Given the description of an element on the screen output the (x, y) to click on. 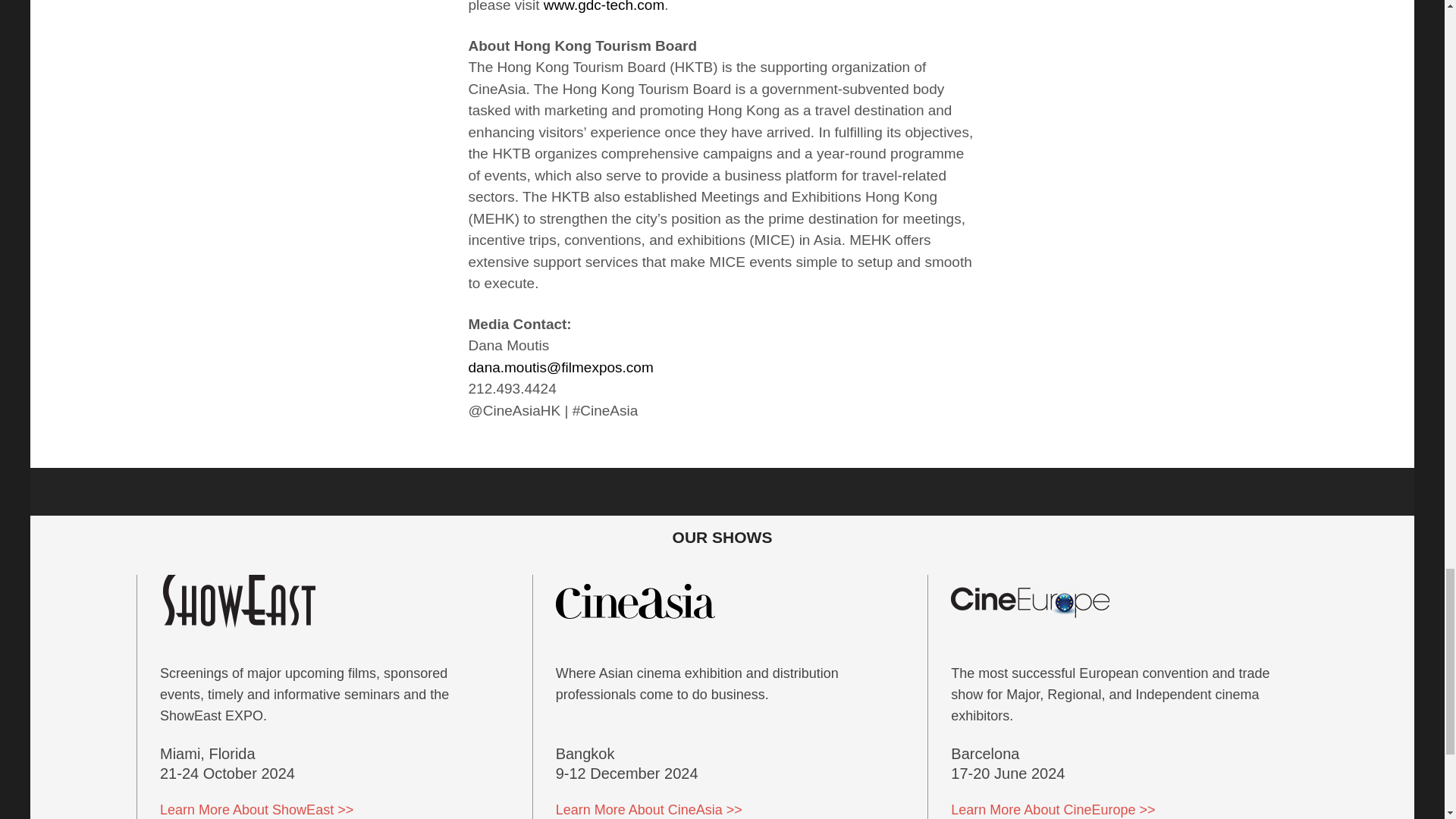
www.gdc-tech.com (603, 6)
